Given the description of an element on the screen output the (x, y) to click on. 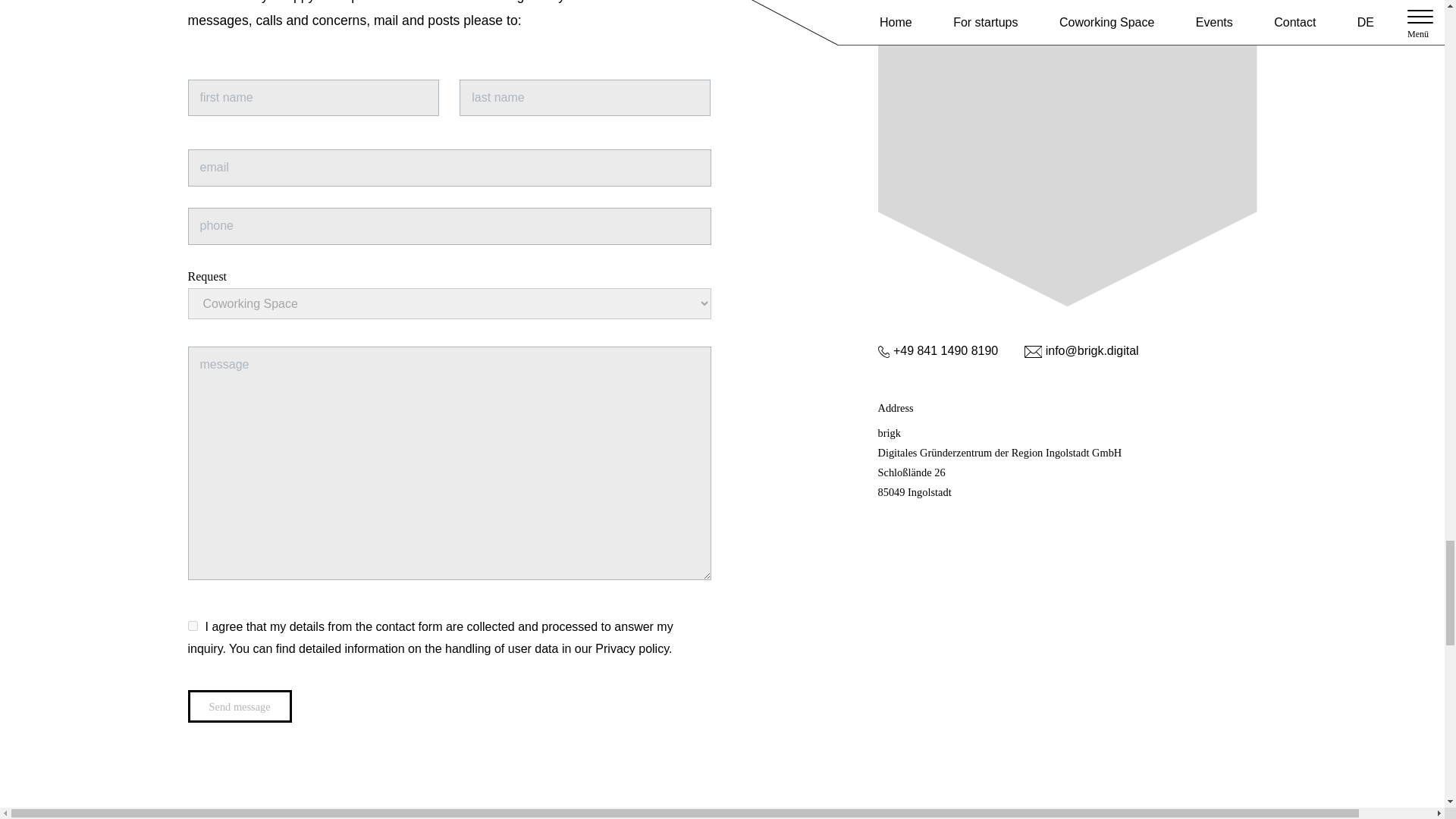
Send message (239, 705)
Privacy policy (631, 648)
1 (192, 625)
Send message (239, 705)
